Given the description of an element on the screen output the (x, y) to click on. 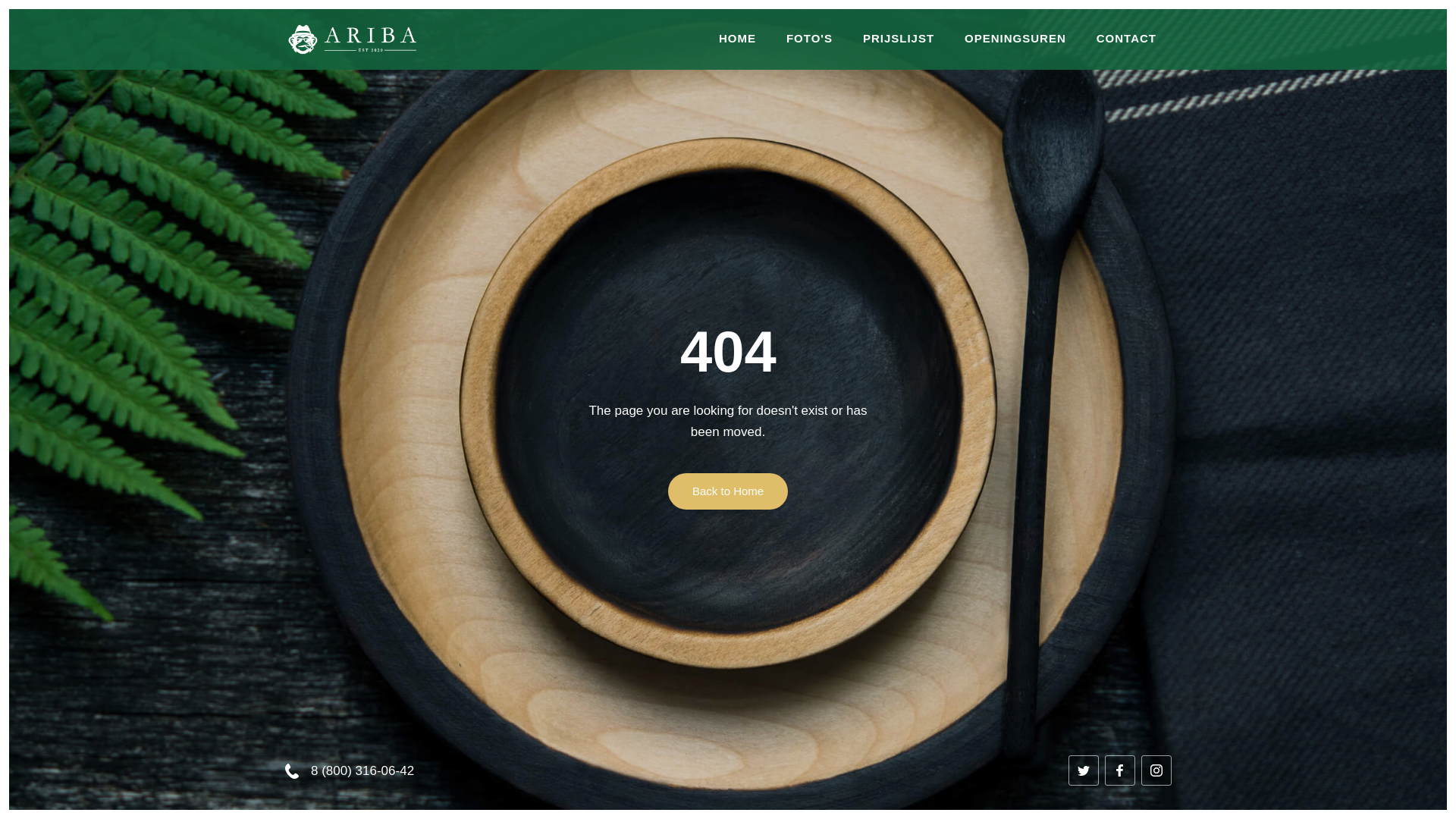
FOTO'S Element type: text (809, 39)
HOME Element type: text (737, 39)
CONTACT Element type: text (1126, 39)
PRIJSLIJST Element type: text (898, 39)
Back to Home Element type: text (727, 491)
OPENINGSUREN Element type: text (1015, 39)
8 (800) 316-06-42 Element type: text (349, 770)
